Given the description of an element on the screen output the (x, y) to click on. 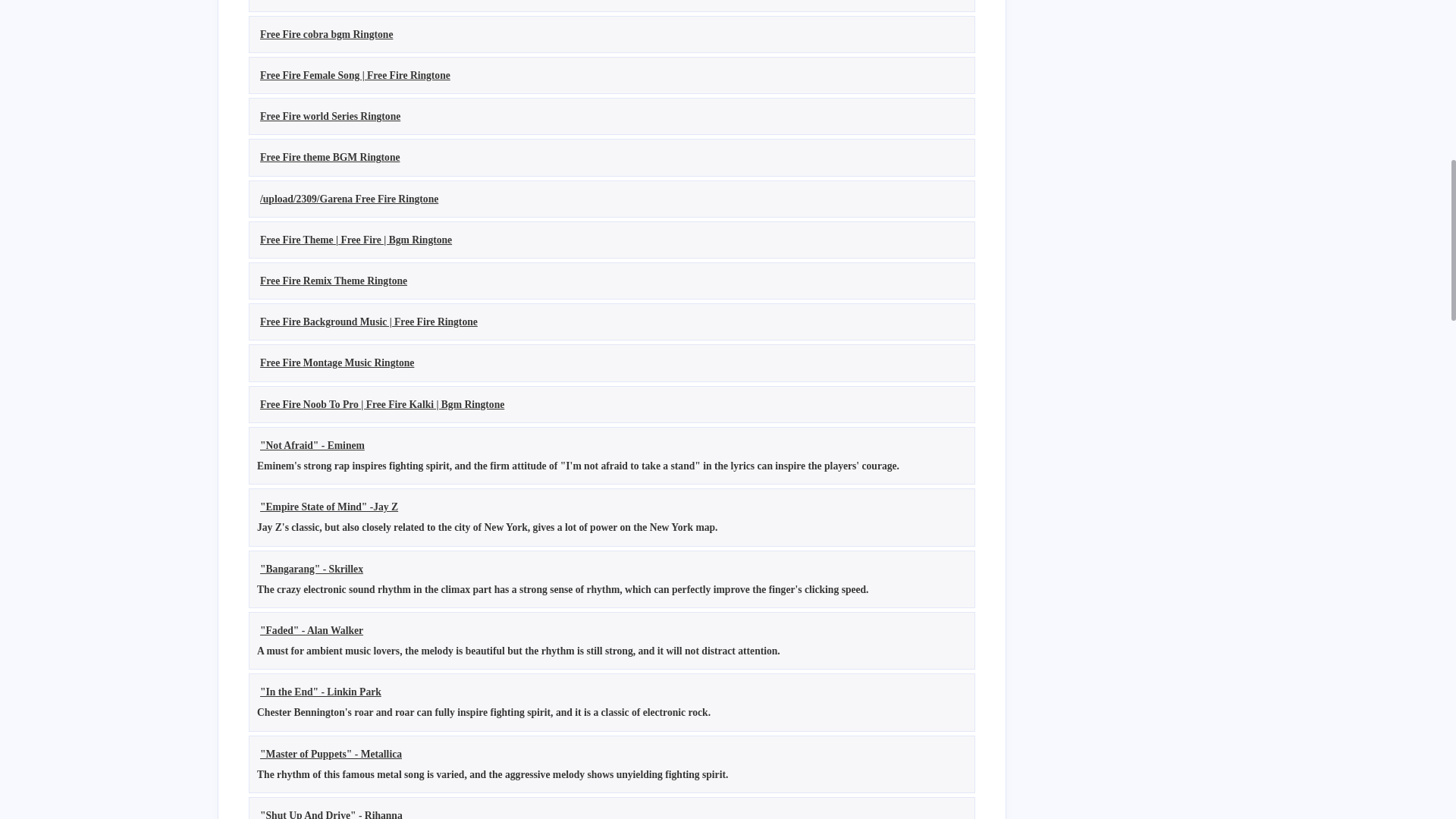
Free Fire Remix Theme Ringtone (333, 280)
Free Fire theme BGM Ringtone (330, 156)
"Empire State of Mind" -Jay Z (329, 506)
Free Fire Montage Music Ringtone (336, 362)
Free Fire world Series Ringtone (330, 116)
Free Fire cobra bgm Ringtone (326, 34)
"Bangarang" - Skrillex (311, 568)
"Faded" - Alan Walker (311, 630)
"Not Afraid" - Eminem (312, 445)
